Given the description of an element on the screen output the (x, y) to click on. 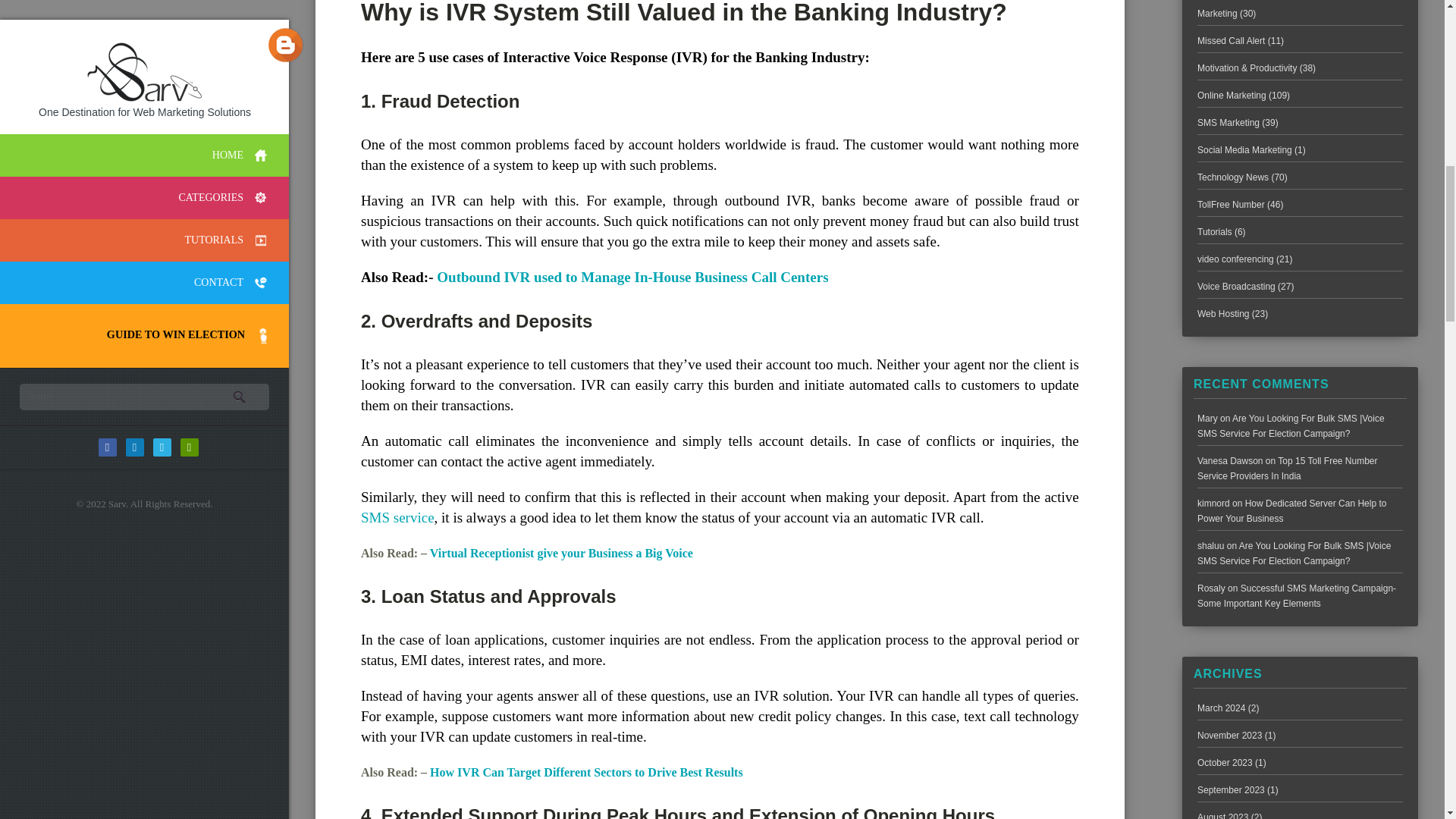
Outbound IVR used to Manage In-House Business Call Centers (632, 277)
How IVR Can Target Different Sectors to Drive Best Results (585, 771)
Virtual Receptionist give your Business a Big Voice (561, 553)
SMS Marketing Strategy (397, 517)
How IVR Can Target Different Sectors to Drive Best Results (585, 771)
Outbound IVR For Business (632, 277)
SMS service (397, 517)
